Given the description of an element on the screen output the (x, y) to click on. 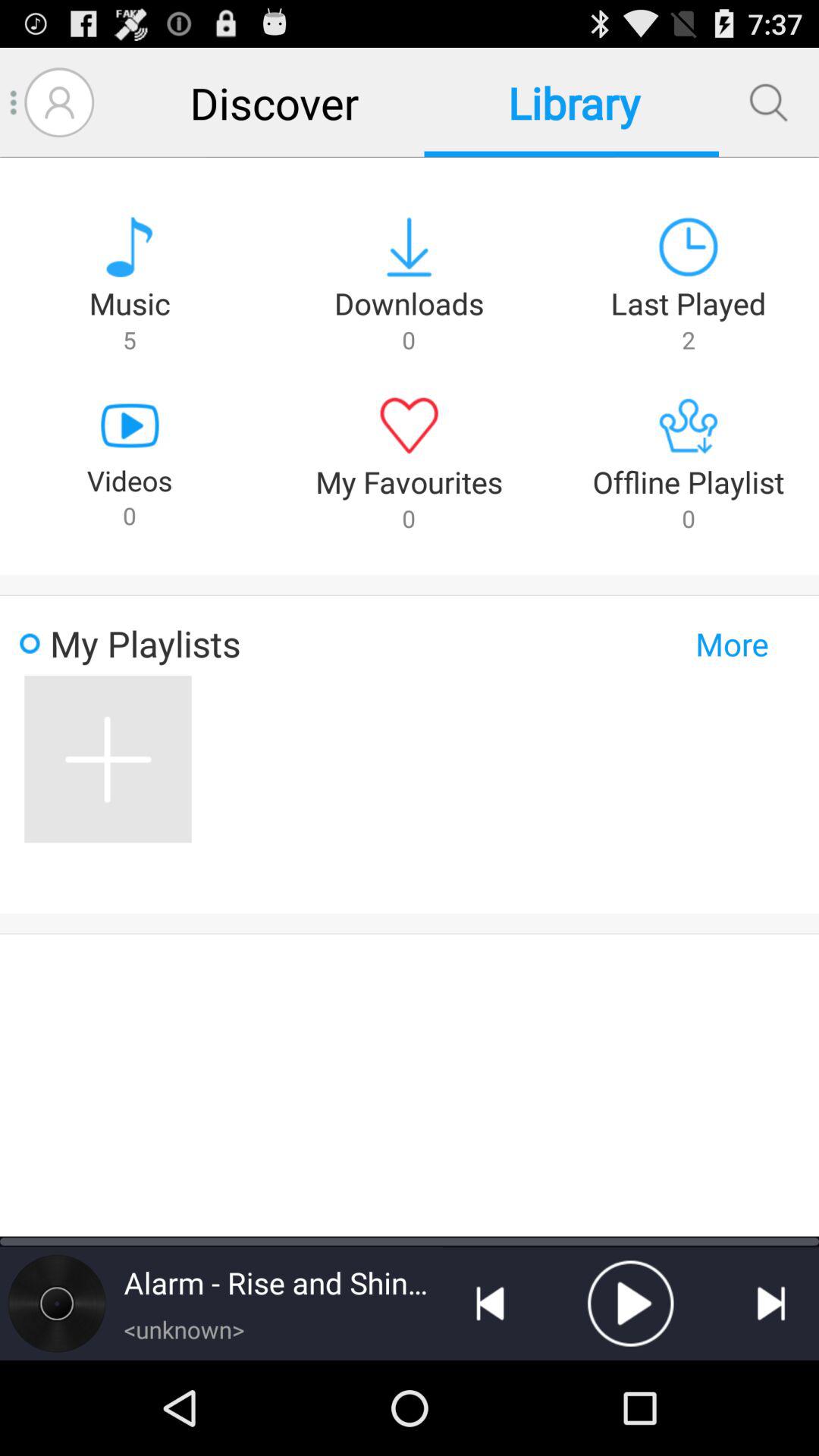
rewind option (490, 1303)
